Given the description of an element on the screen output the (x, y) to click on. 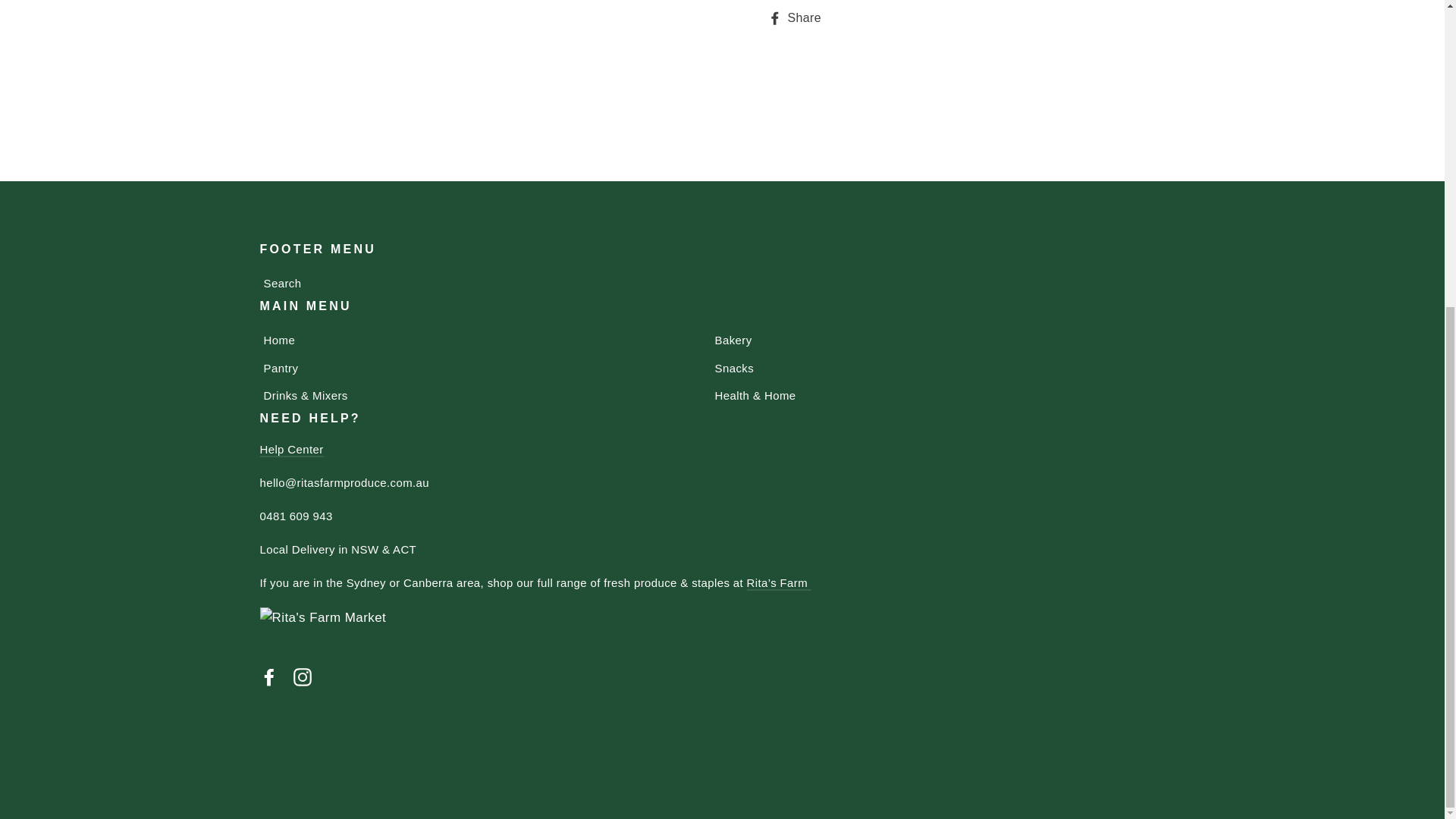
Help Center (291, 450)
Rita's Farm Market on Facebook (268, 675)
Rita's Farm Market on Instagram (302, 675)
Share on Facebook (799, 18)
